Given the description of an element on the screen output the (x, y) to click on. 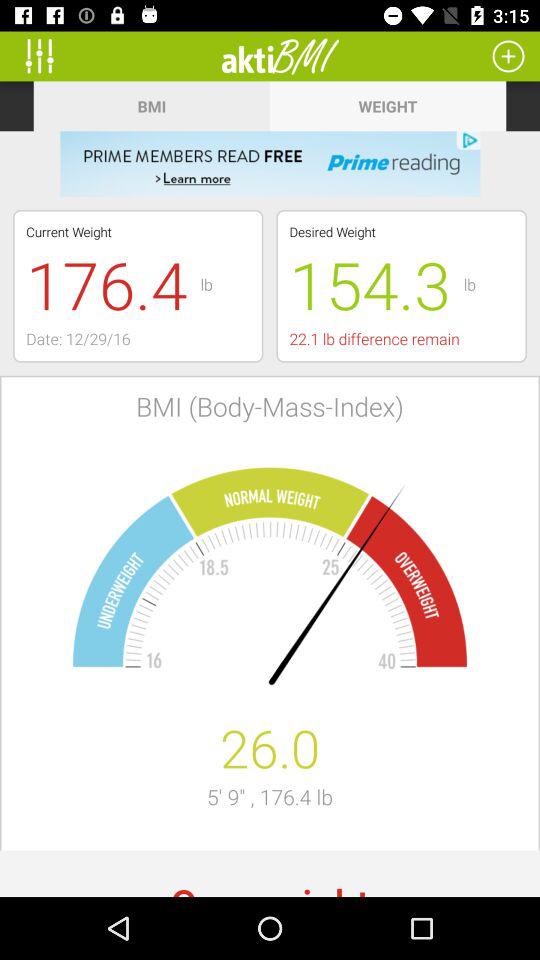
add for amazon prime reading (270, 163)
